Given the description of an element on the screen output the (x, y) to click on. 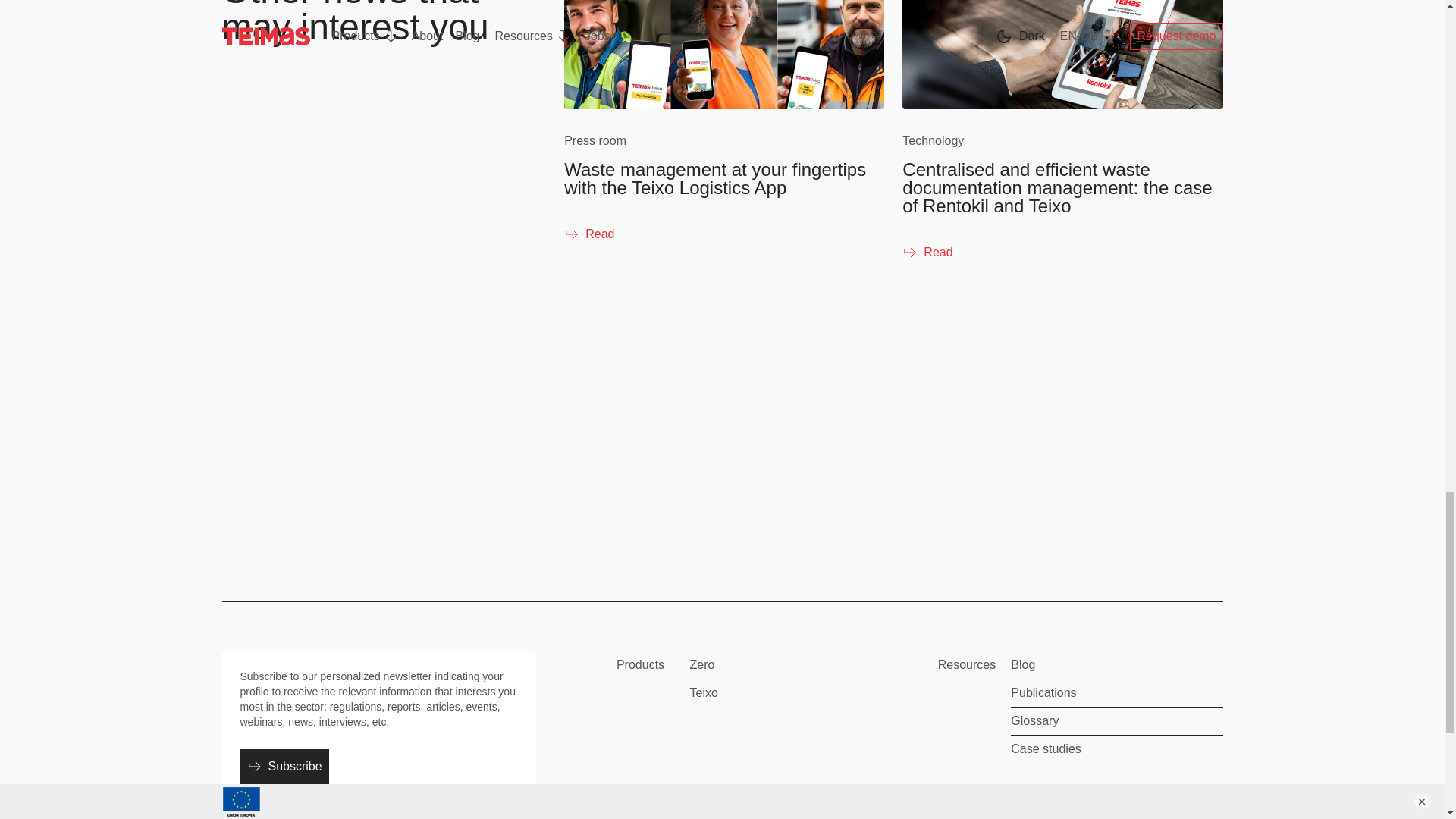
Blog (1116, 668)
Jobs (795, 809)
Glossary (1116, 724)
Subscribe (284, 766)
Publications (1116, 696)
Case studies (1116, 752)
Teixo (795, 695)
Zero (795, 668)
